Given the description of an element on the screen output the (x, y) to click on. 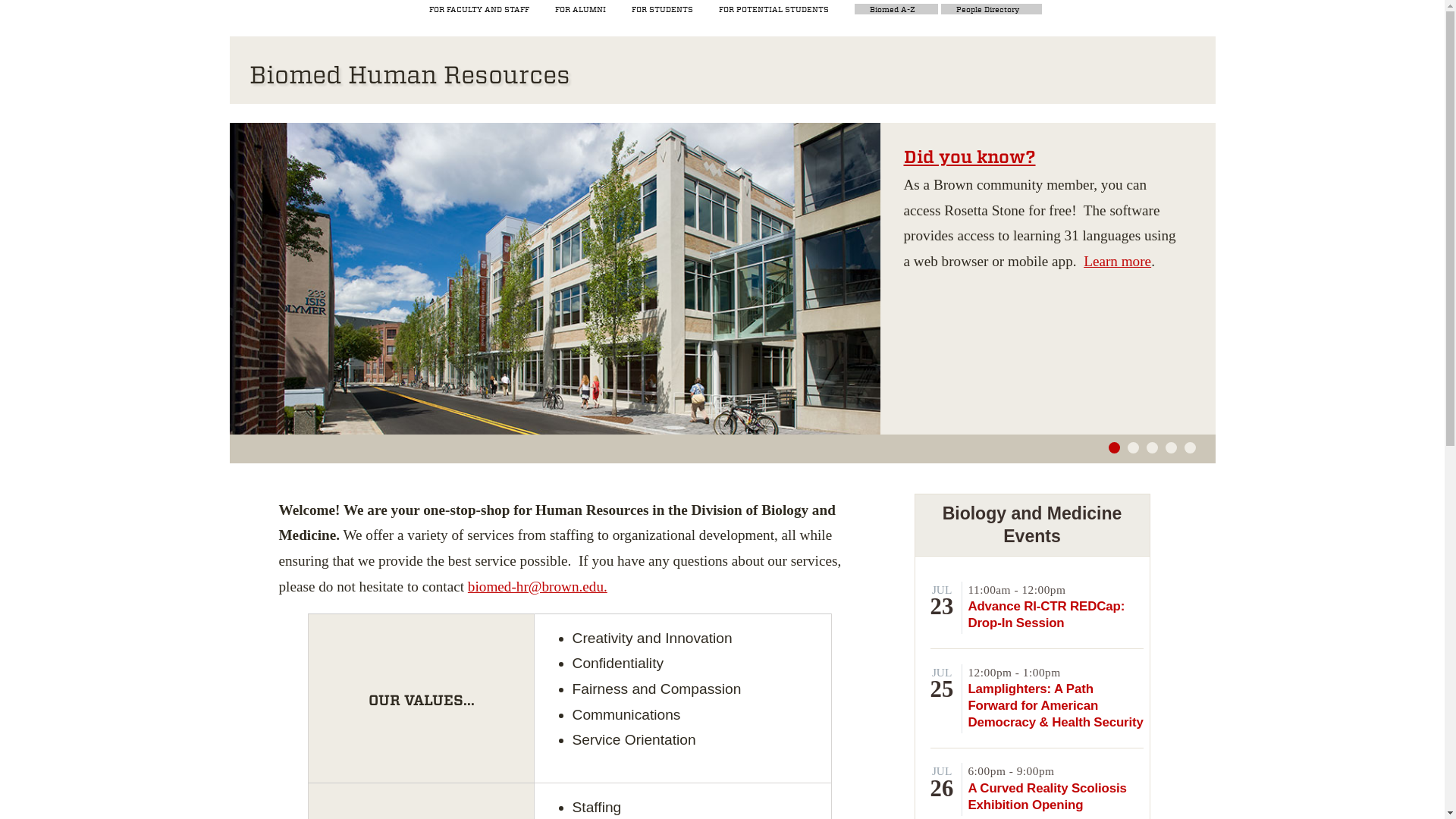
Biomed A-Z (892, 10)
FOR STUDENTS (662, 10)
FOR FACULTY AND STAFF (479, 10)
Biomed Human Resources (408, 74)
FOR POTENTIAL STUDENTS (773, 10)
3 (1152, 447)
5 (1190, 447)
1 (1113, 447)
FOR ALUMNI (579, 10)
Did you know? (969, 156)
2 (1132, 447)
4 (1170, 447)
People Directory (987, 10)
Learn more (1117, 261)
